Given the description of an element on the screen output the (x, y) to click on. 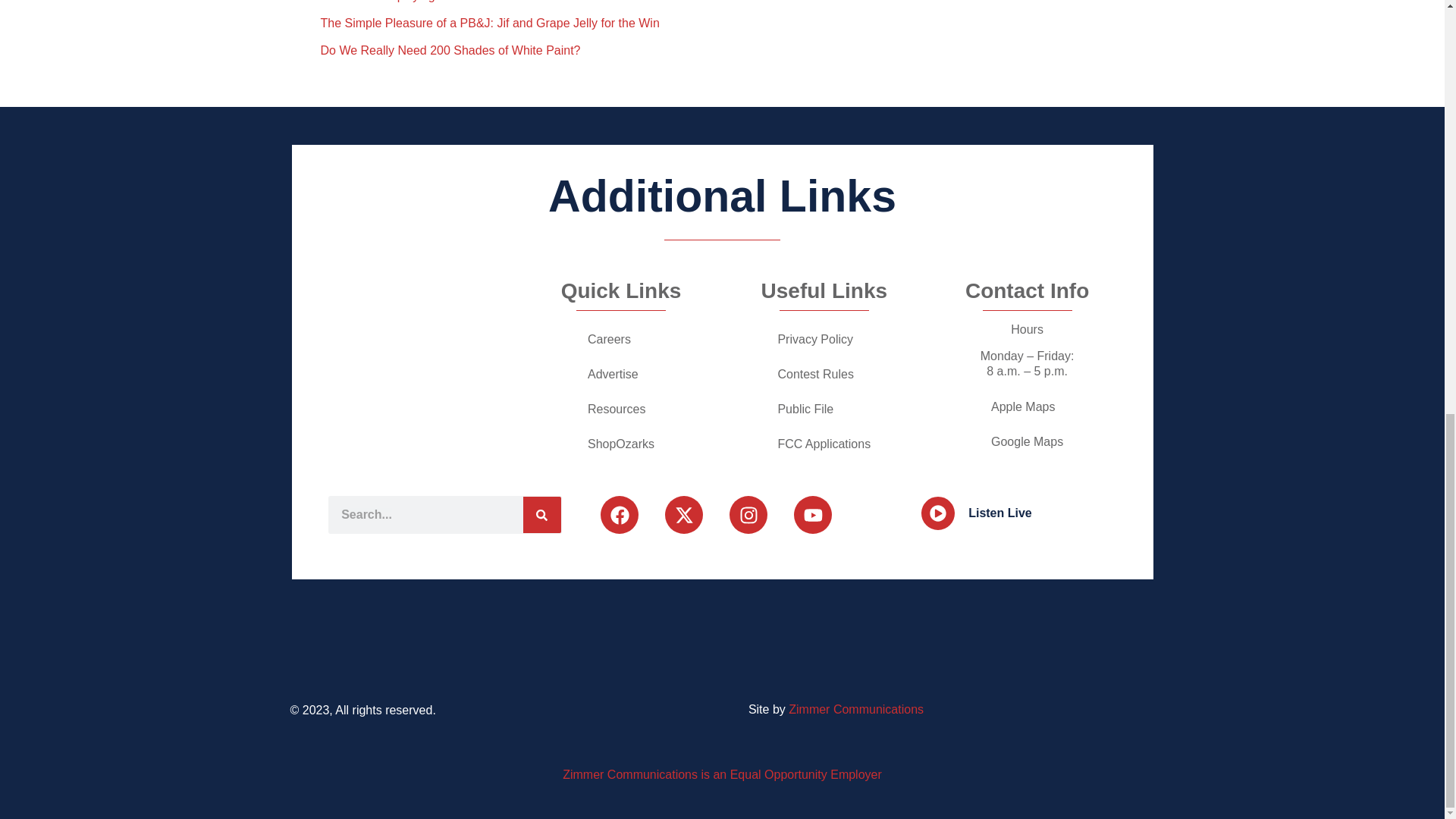
The Art of Simplifying Life (388, 1)
